Given the description of an element on the screen output the (x, y) to click on. 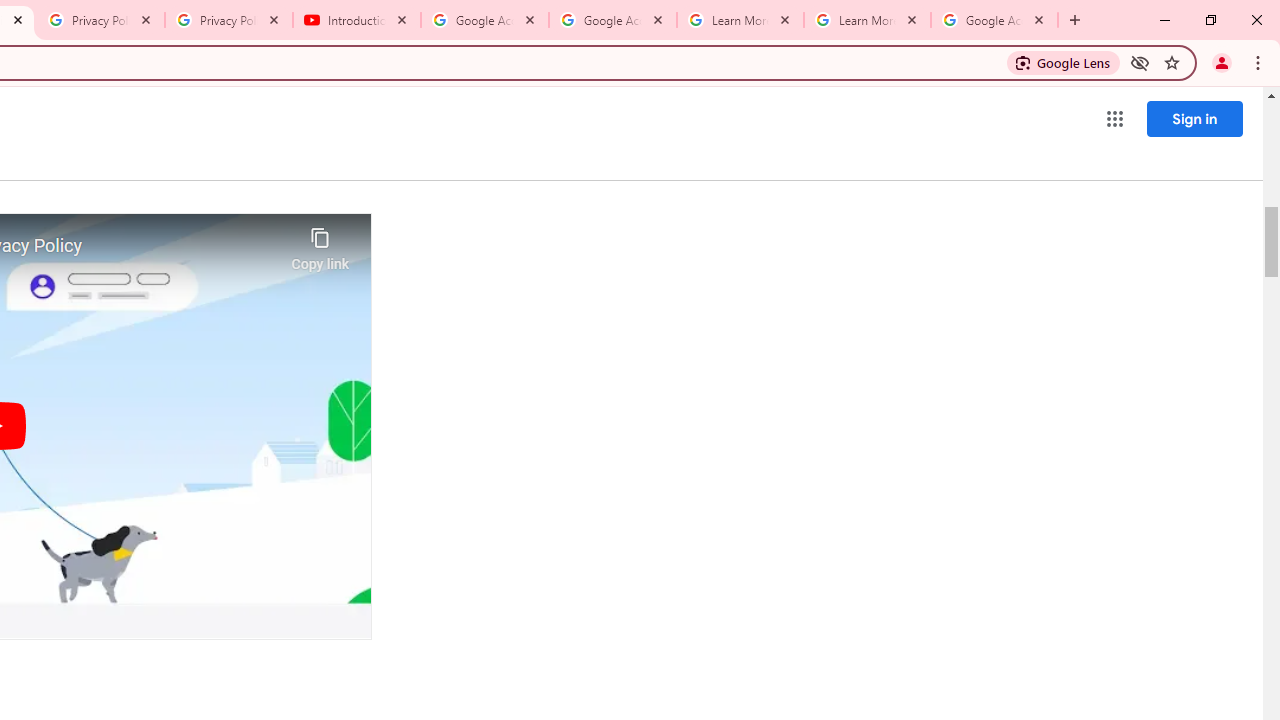
Google Account Help (485, 20)
Google Account Help (613, 20)
Copy link (319, 244)
